Given the description of an element on the screen output the (x, y) to click on. 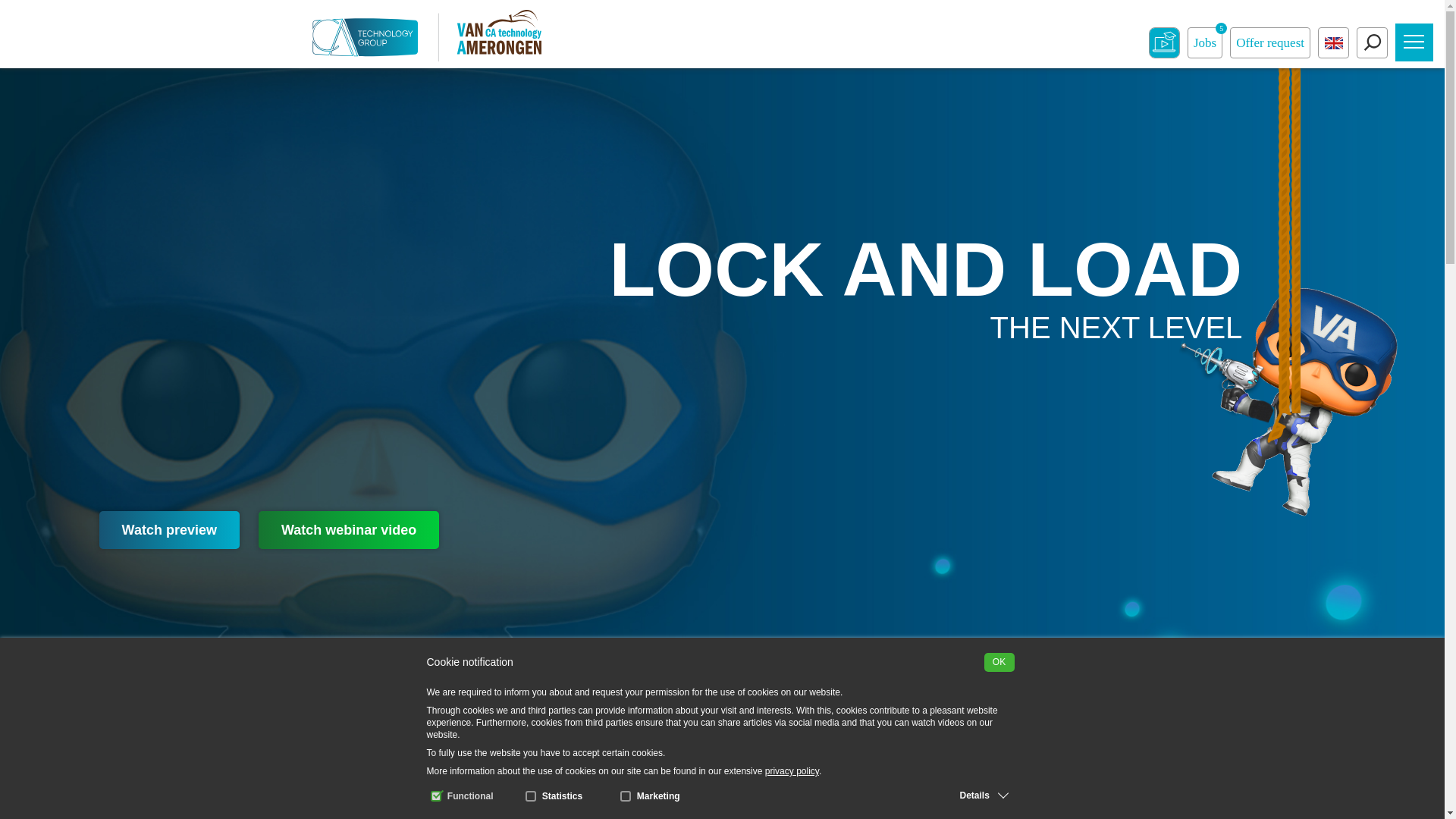
on (625, 796)
on (530, 796)
on (435, 796)
Offer request (1270, 42)
